Given the description of an element on the screen output the (x, y) to click on. 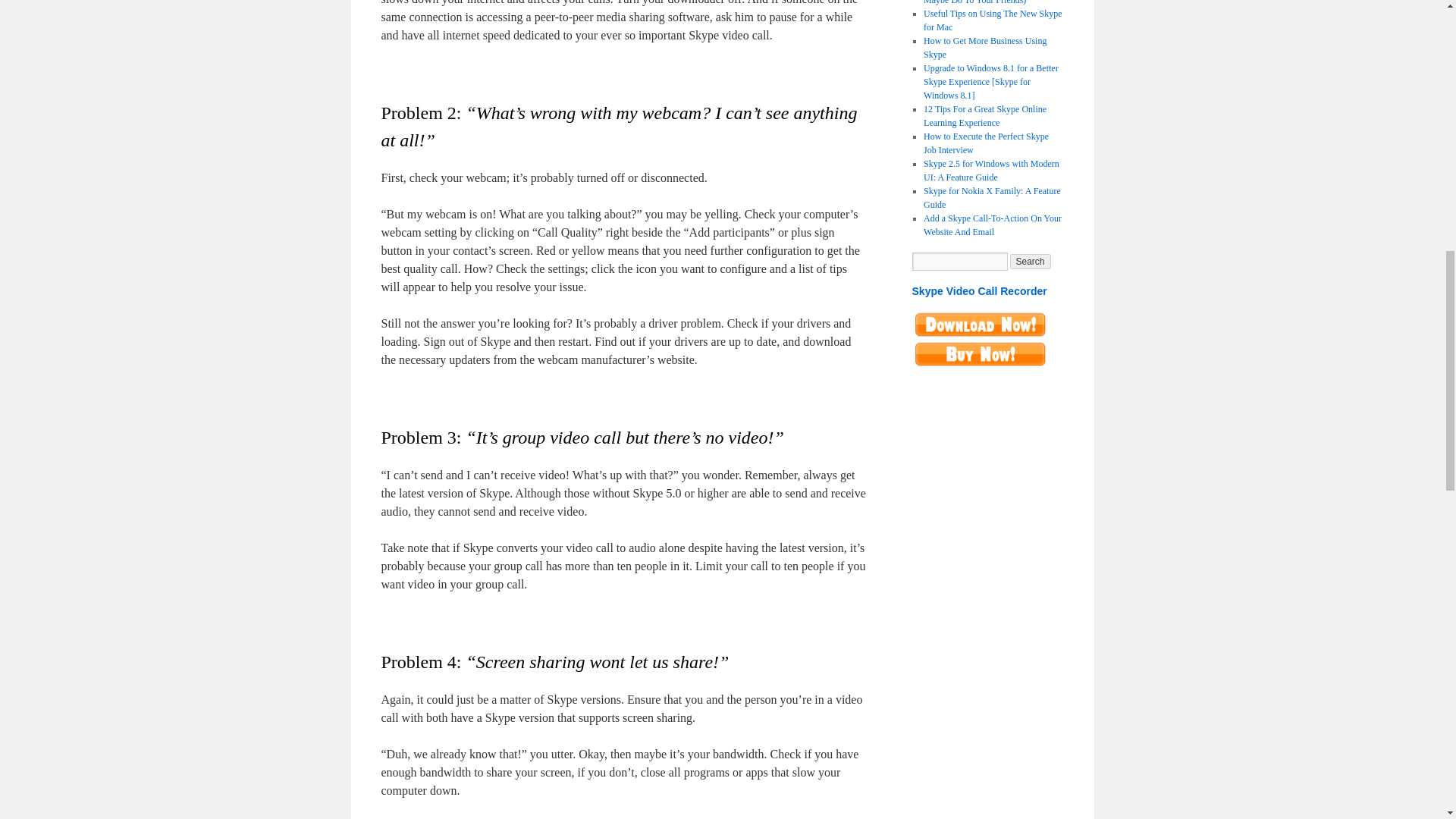
Search (1030, 261)
